Given the description of an element on the screen output the (x, y) to click on. 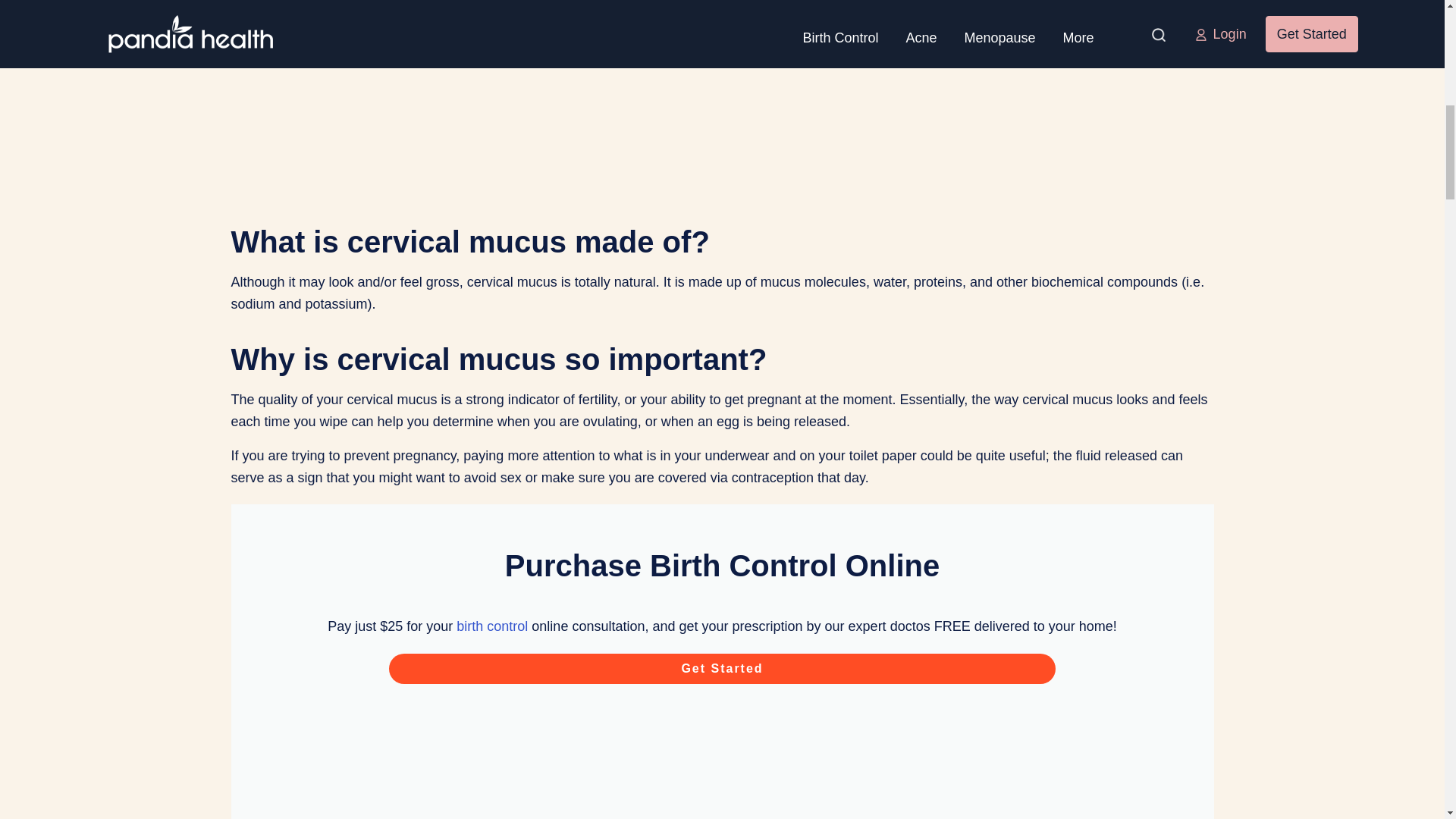
gif discharge is the spit of the vagina (721, 76)
5-stars (721, 799)
Google logo (721, 735)
